Given the description of an element on the screen output the (x, y) to click on. 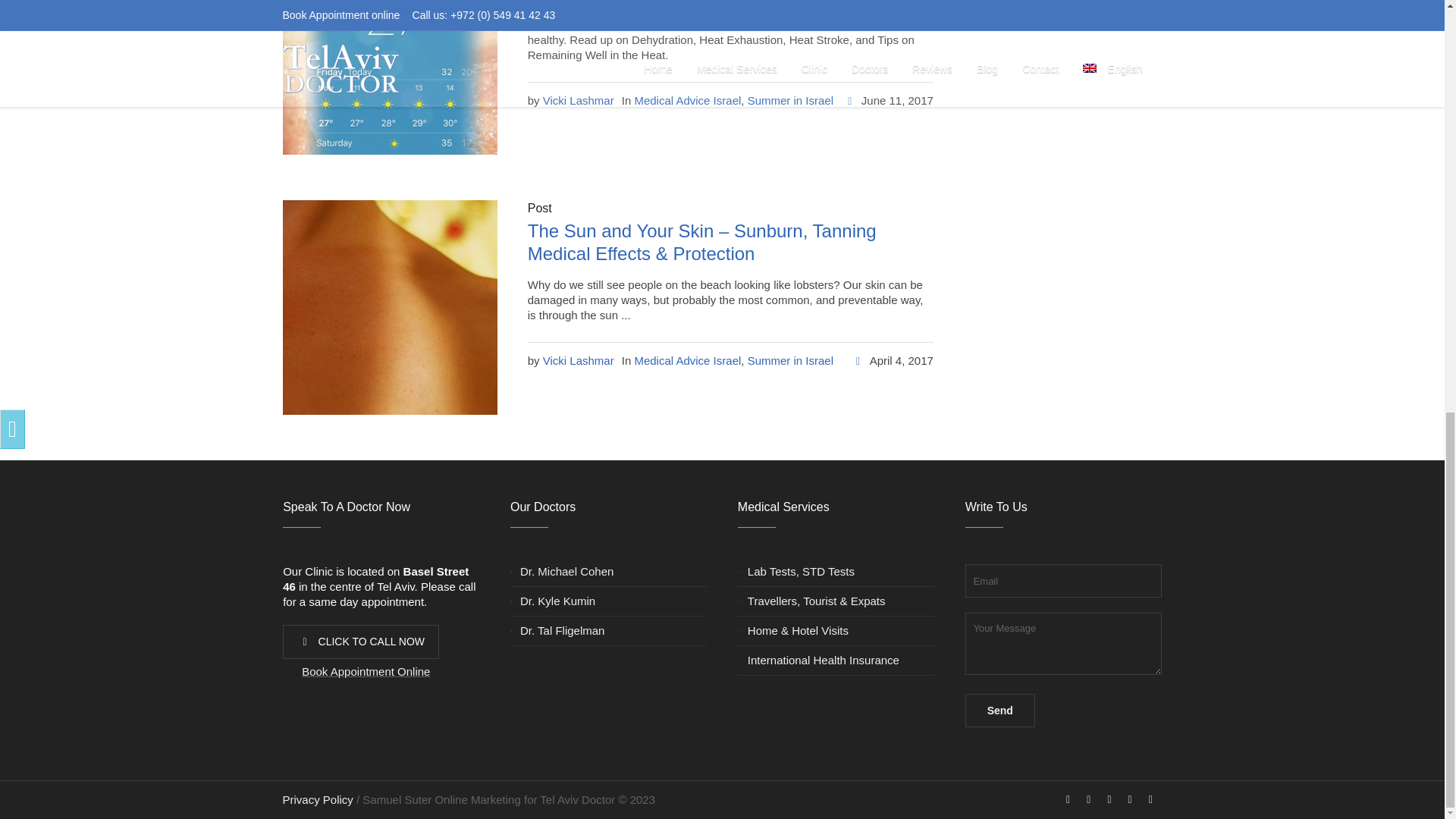
Send (1000, 710)
